Given the description of an element on the screen output the (x, y) to click on. 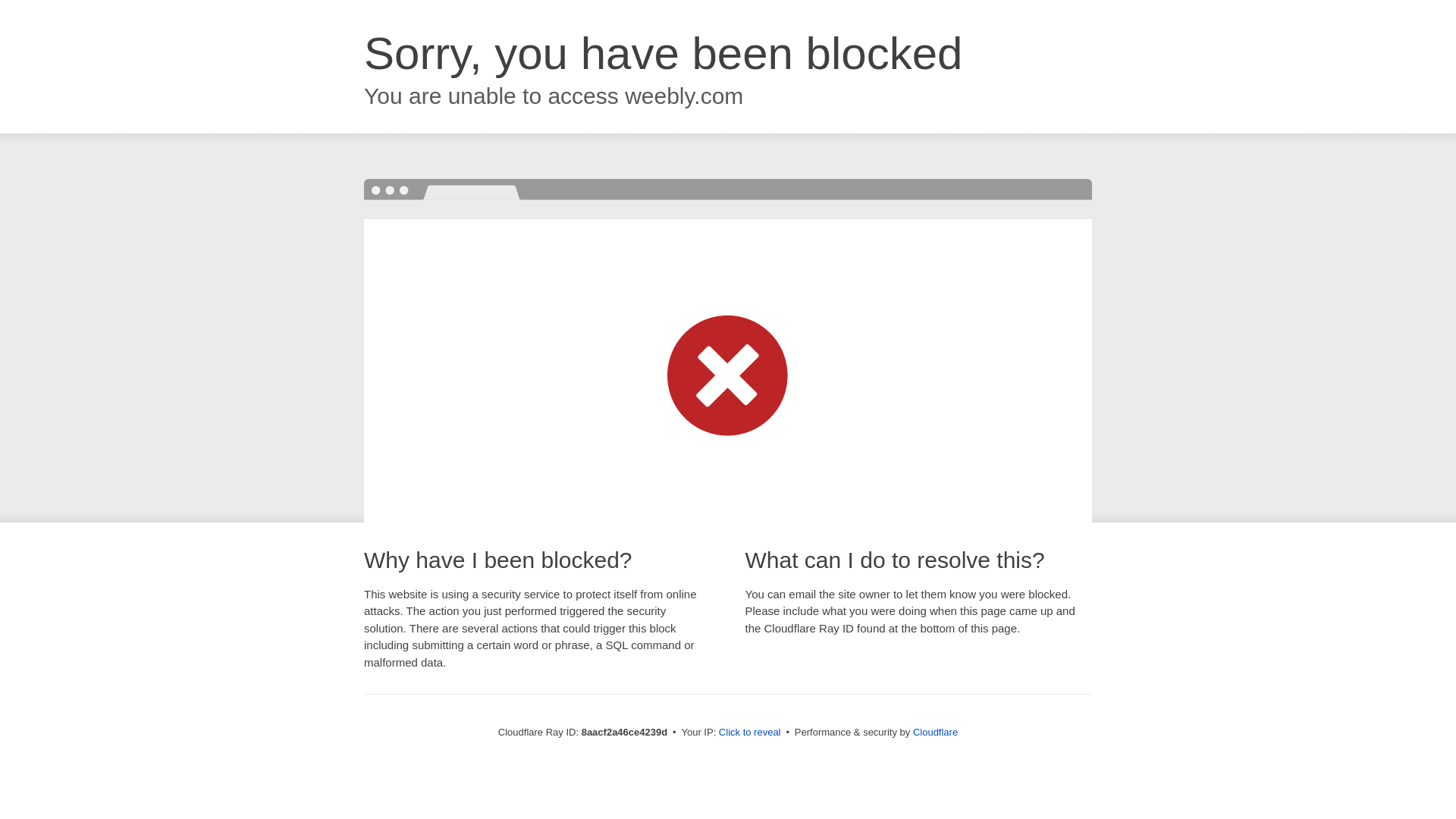
Cloudflare (935, 731)
Click to reveal (749, 732)
